Given the description of an element on the screen output the (x, y) to click on. 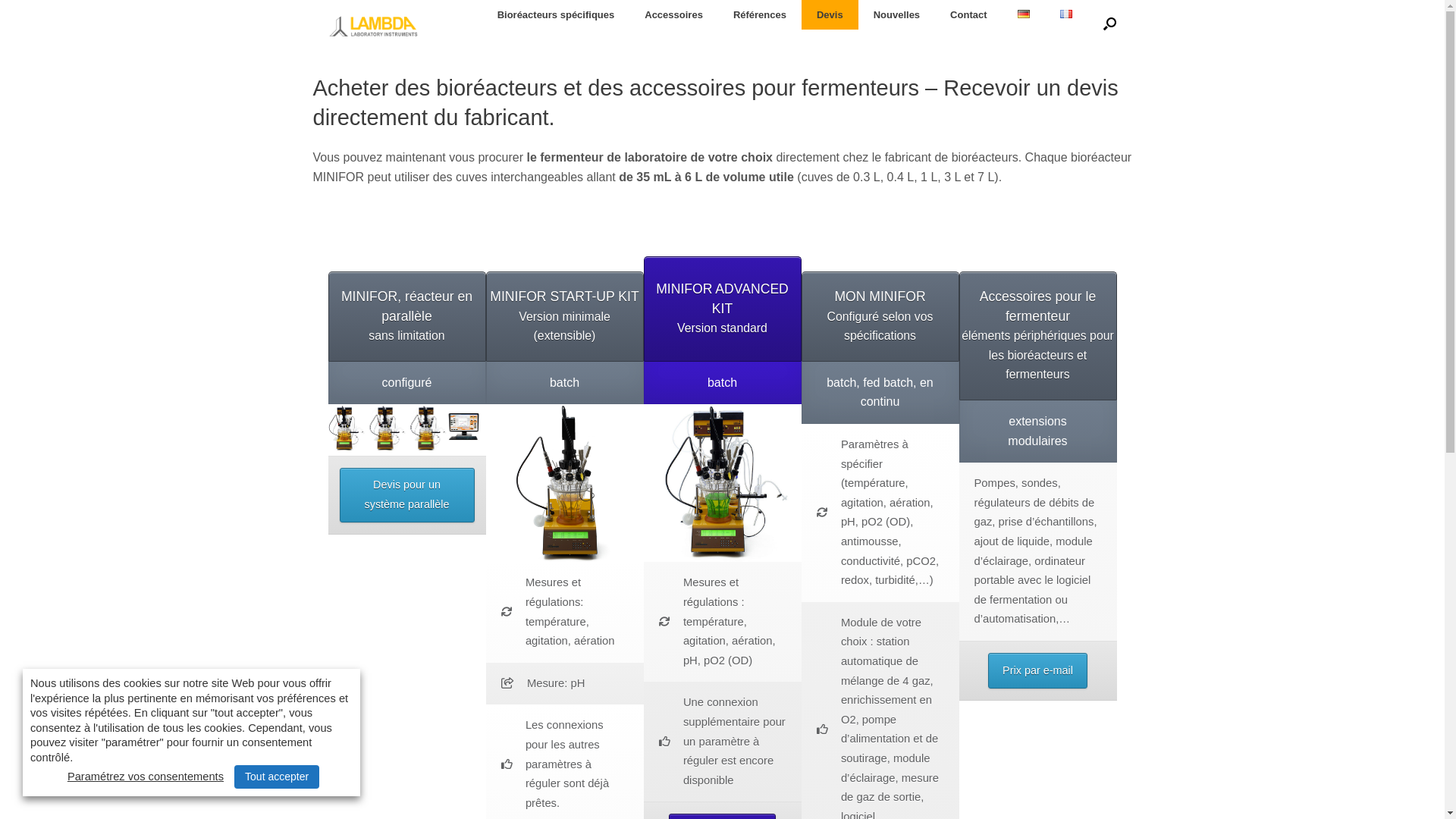
extensible fermenteur de laboratoire Element type: hover (564, 482)
Prix par e-mail Element type: text (1037, 670)
Contact Element type: text (968, 14)
Nouvelles Element type: text (896, 14)
Accessoires Element type: text (673, 14)
Devis Element type: text (829, 14)
Tout accepter Element type: text (276, 776)
